Given the description of an element on the screen output the (x, y) to click on. 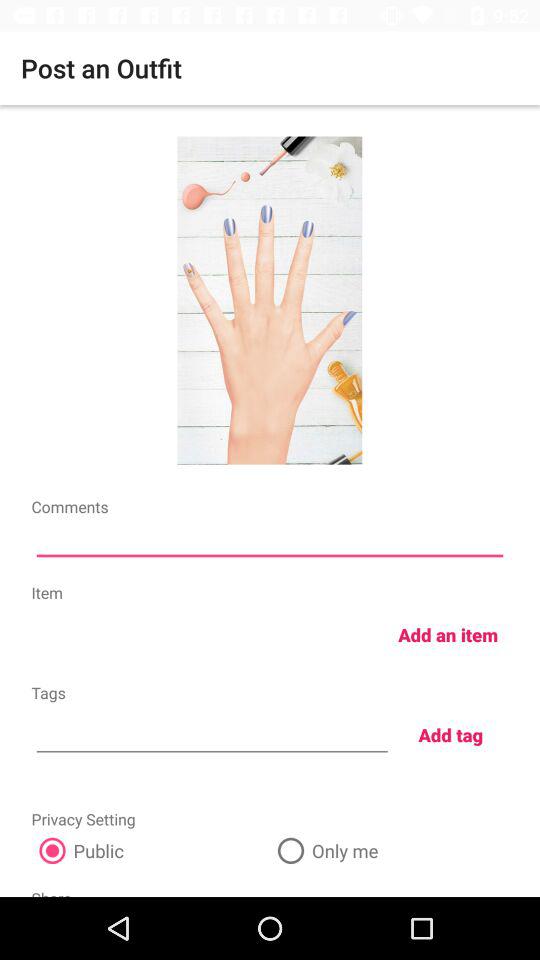
click the add tag item (450, 734)
